Given the description of an element on the screen output the (x, y) to click on. 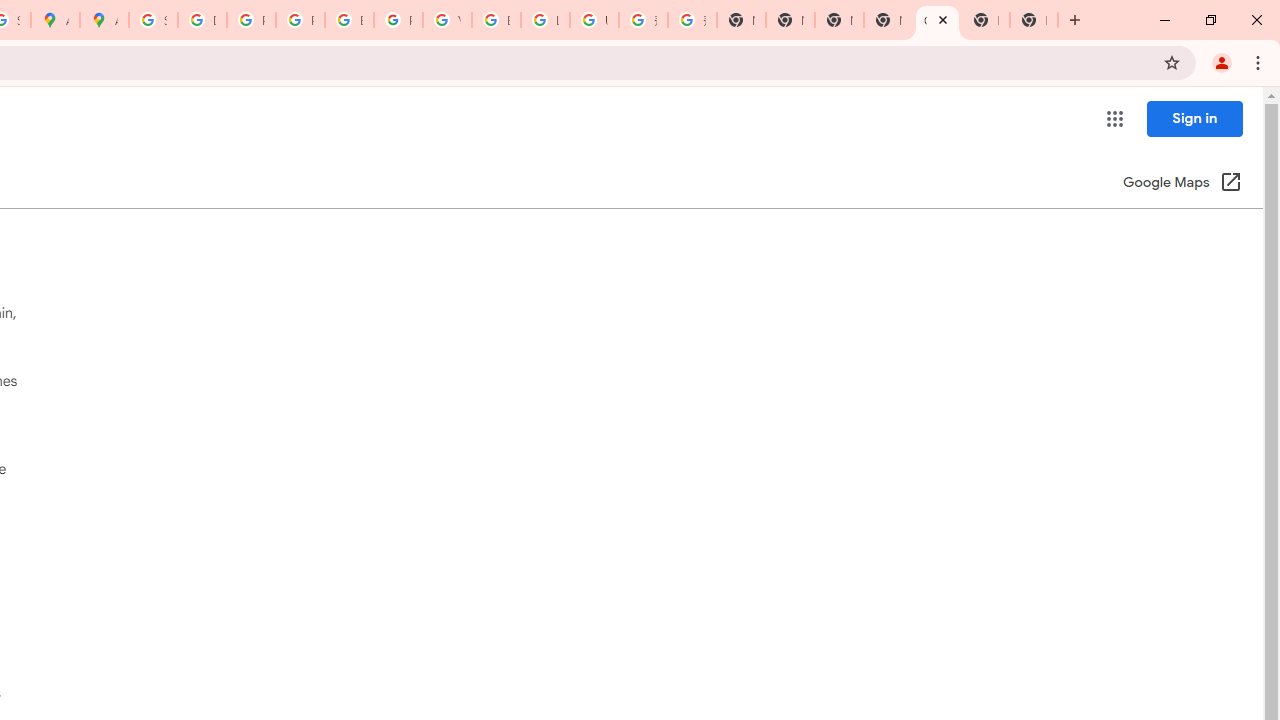
YouTube (447, 20)
New Tab (1033, 20)
